Given the description of an element on the screen output the (x, y) to click on. 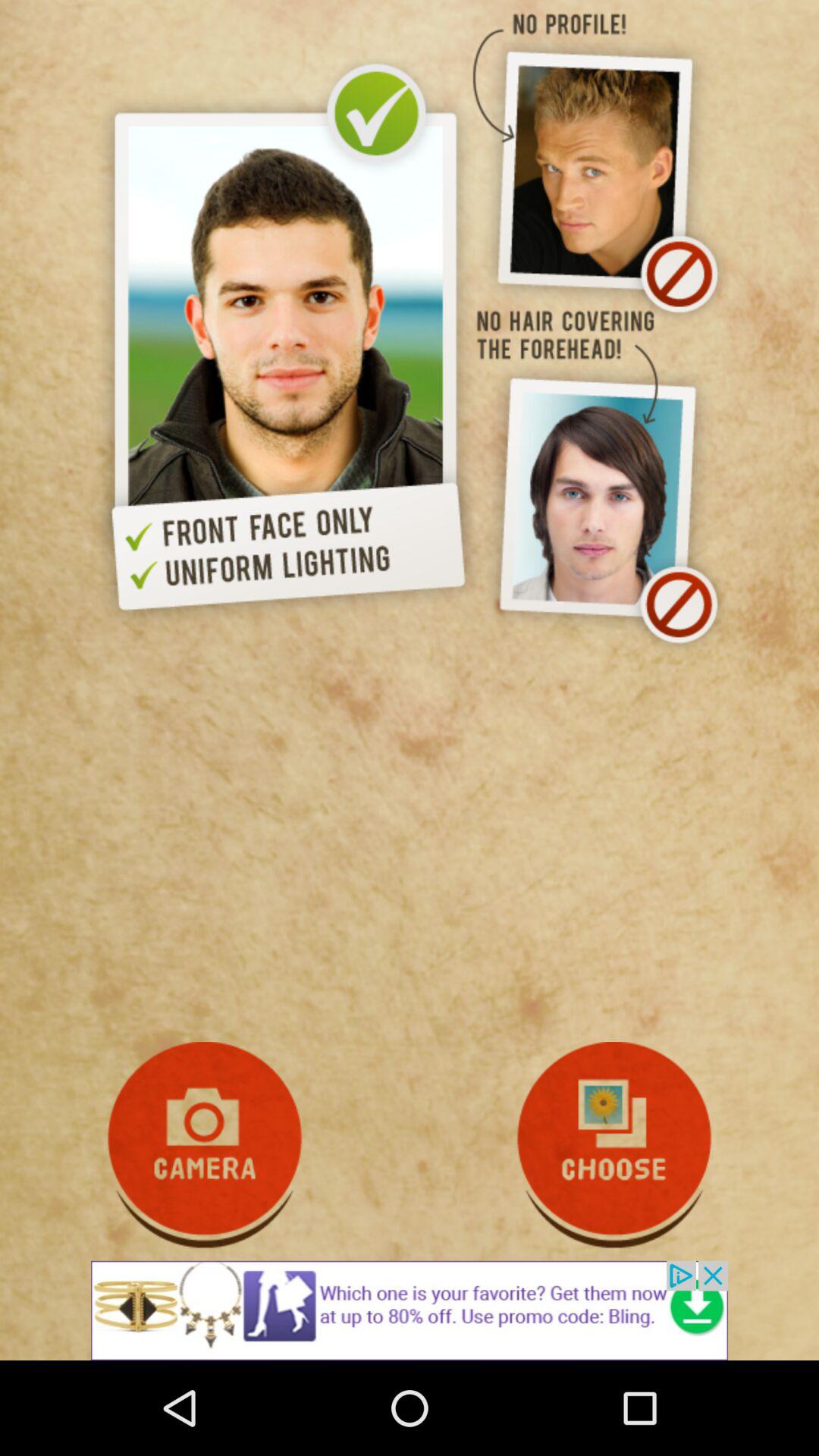
advertisement (409, 1310)
